Given the description of an element on the screen output the (x, y) to click on. 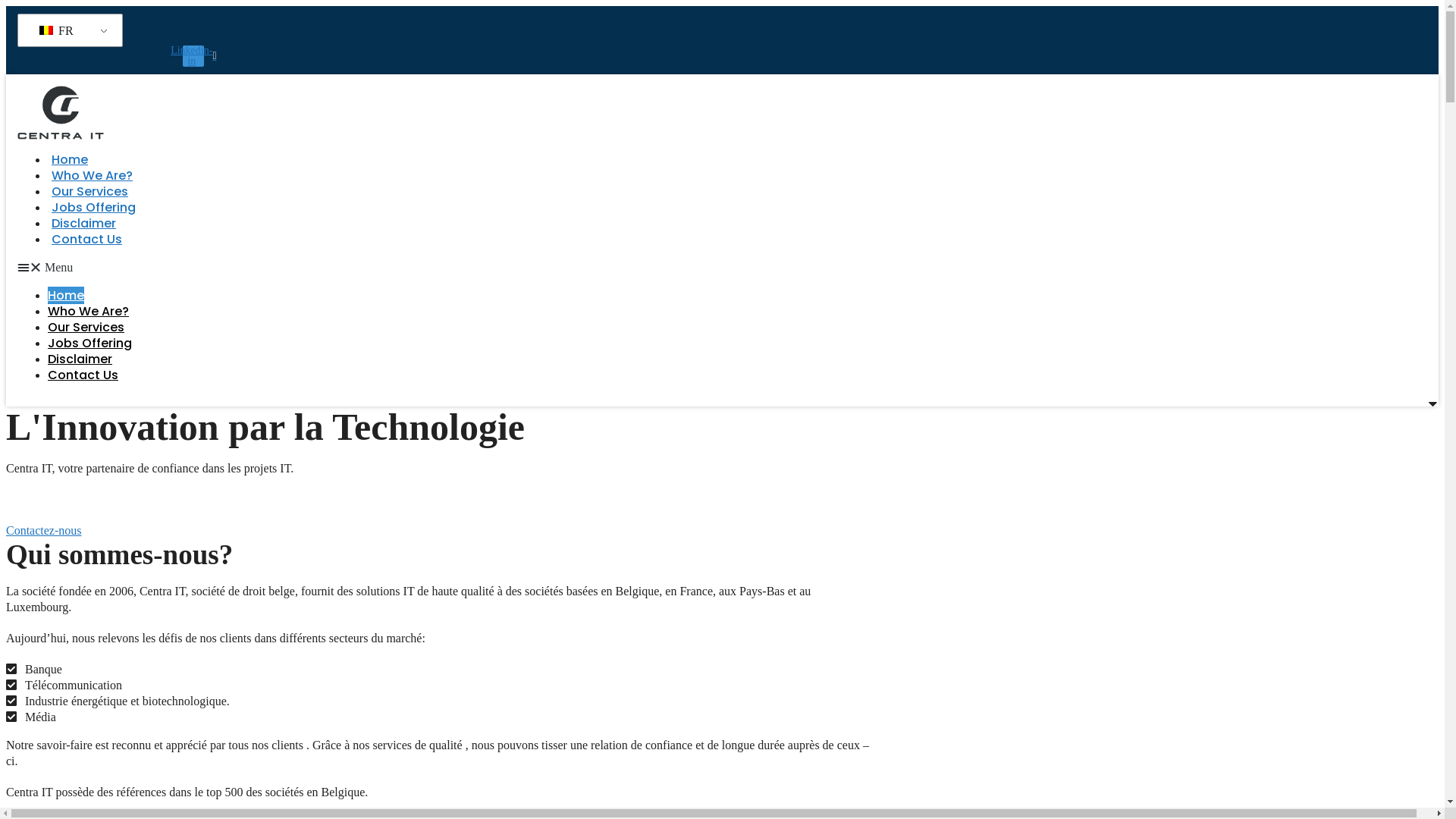
Disclaimer Element type: text (79, 358)
Aller au contenu Element type: text (5, 5)
Who We Are? Element type: text (87, 311)
Contact Us Element type: text (82, 374)
Linkedin-in Element type: text (192, 55)
Home Element type: text (69, 159)
Jobs Offering Element type: text (93, 207)
Our Services Element type: text (85, 326)
Contact Us Element type: text (86, 239)
FR Element type: text (67, 30)
Contactez-nous Element type: text (43, 530)
Who We Are? Element type: text (91, 175)
Our Services Element type: text (89, 191)
Home Element type: text (65, 295)
Jobs Offering Element type: text (89, 342)
Disclaimer Element type: text (83, 223)
